Given the description of an element on the screen output the (x, y) to click on. 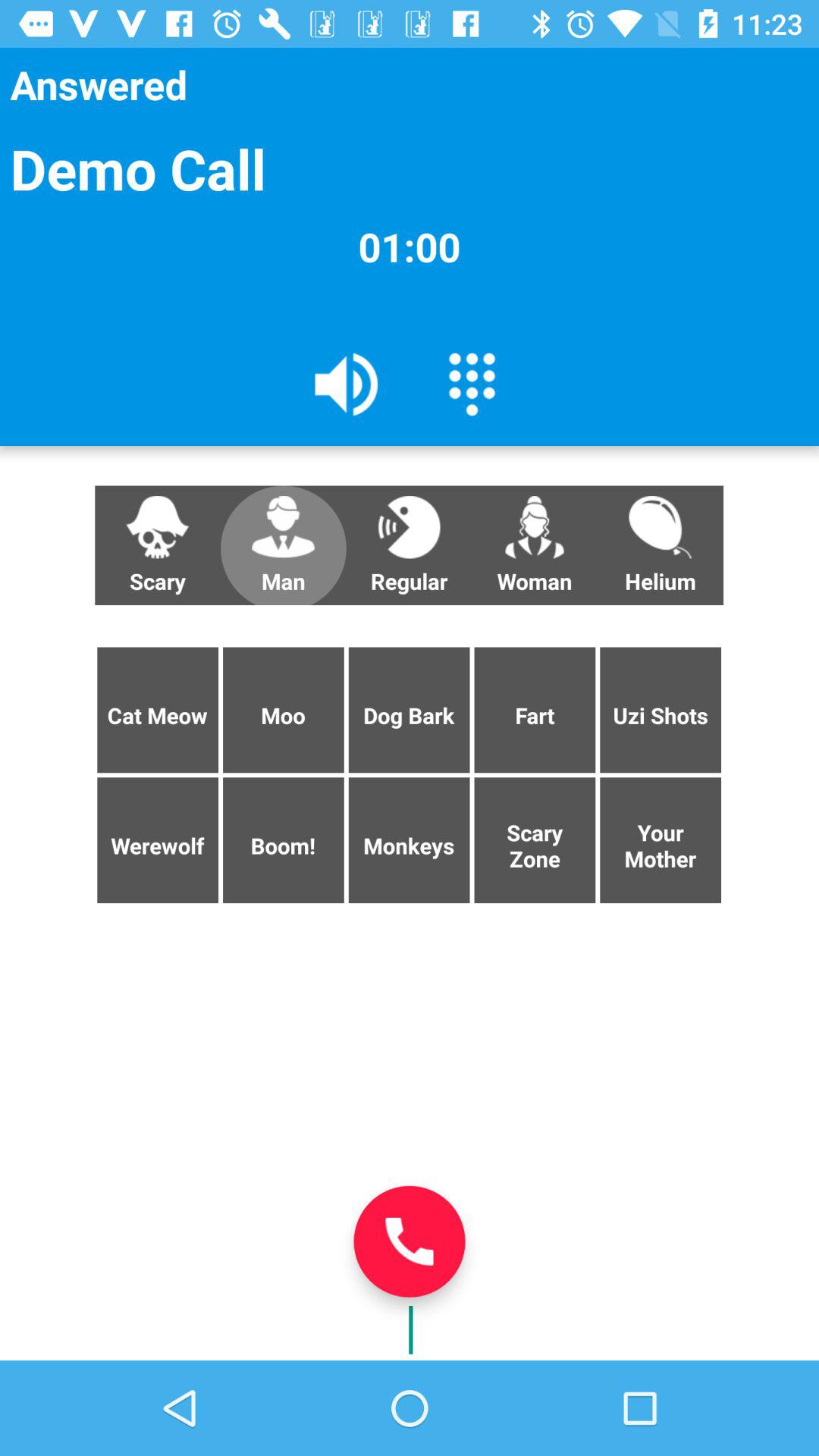
click the icon above regular icon (472, 382)
